Given the description of an element on the screen output the (x, y) to click on. 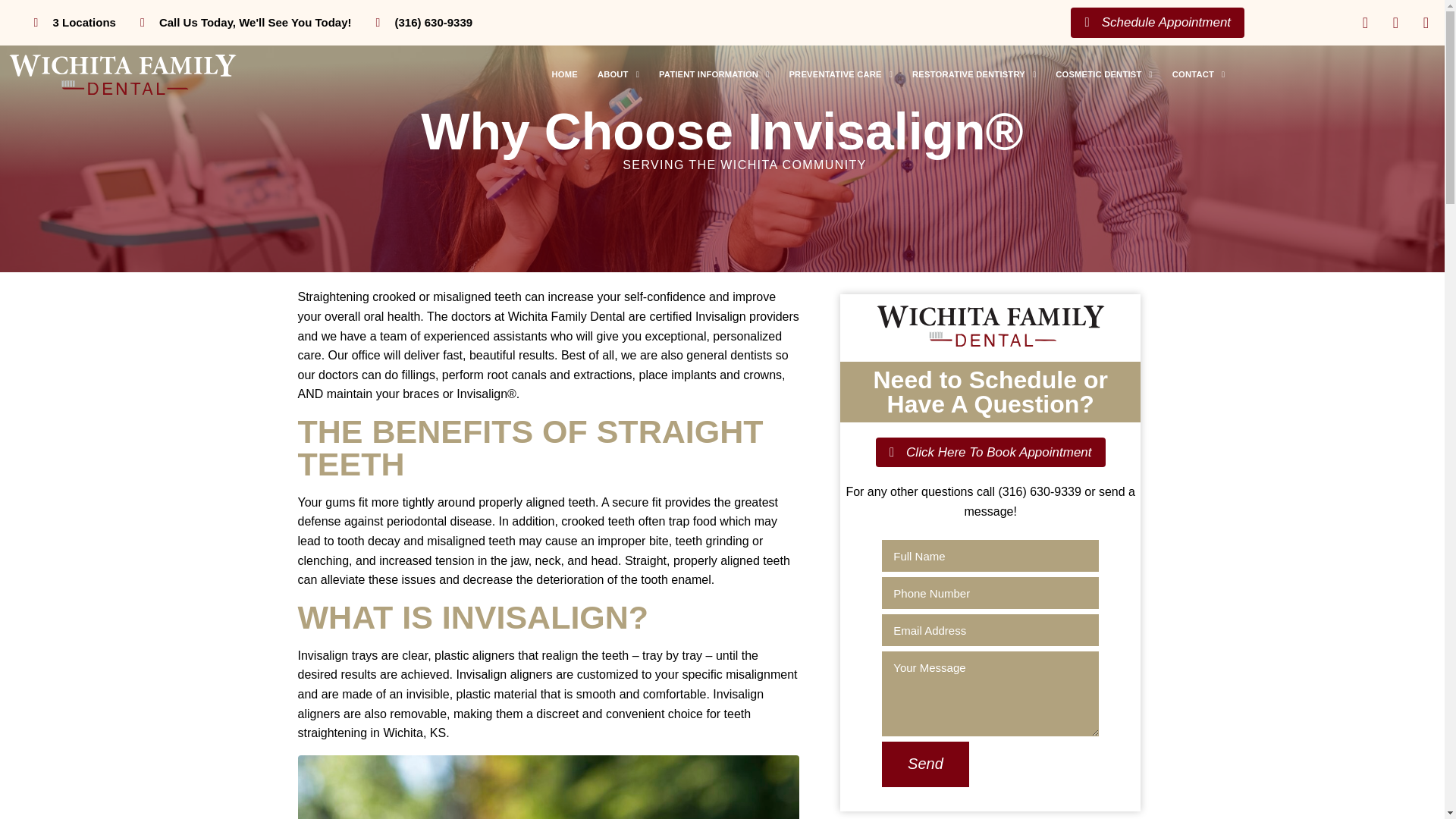
HOME (563, 74)
PATIENT INFORMATION (713, 74)
PREVENTATIVE CARE (840, 74)
Schedule Appointment (1157, 22)
ABOUT (618, 74)
